Given the description of an element on the screen output the (x, y) to click on. 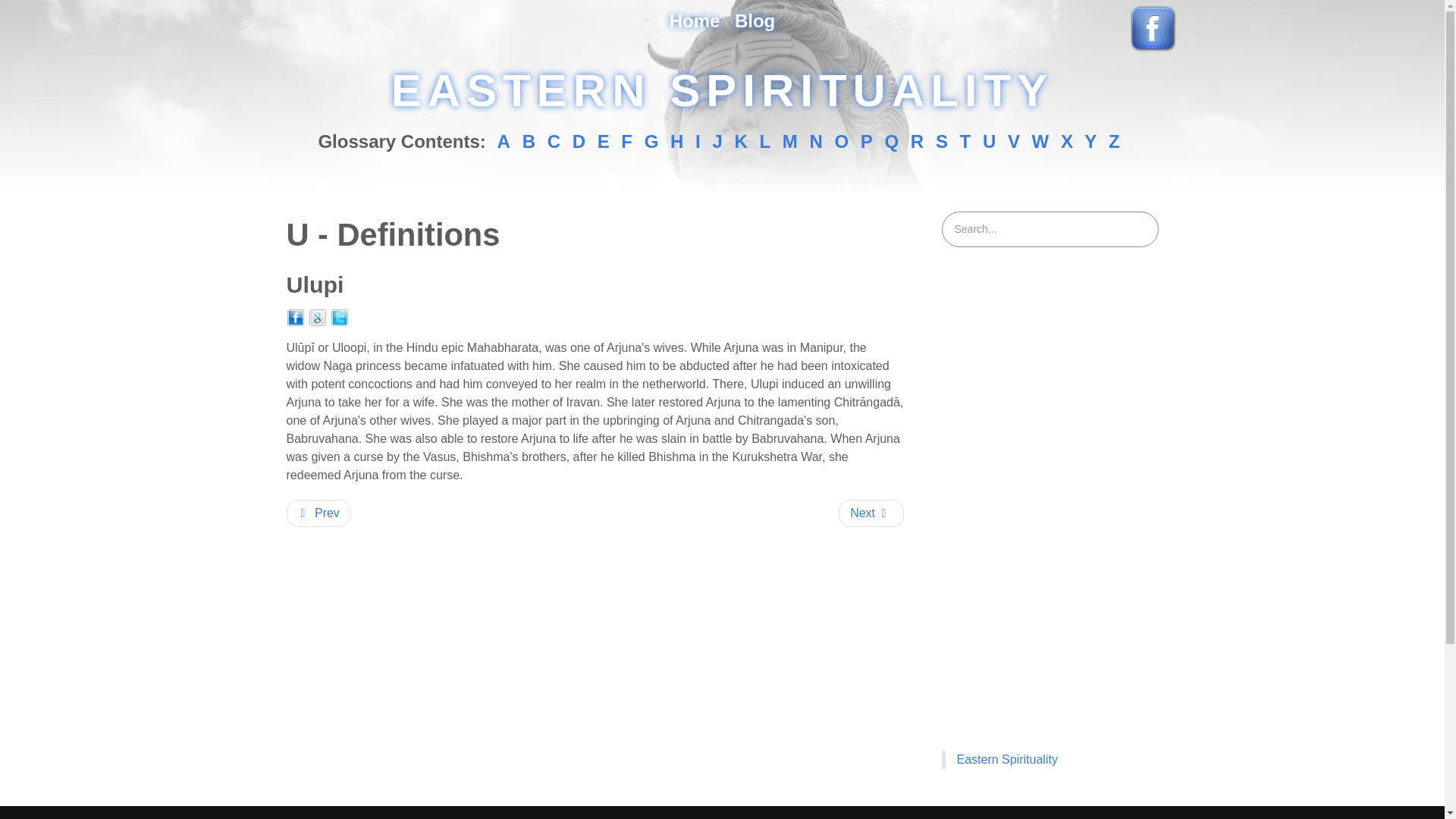
Next (870, 513)
Home (694, 21)
Submit to Twitter (339, 317)
Prev (318, 513)
Eastern Spirituality (1007, 758)
Submit to Facebook (295, 317)
Submit to Google Plus (316, 317)
Blog (754, 21)
